Given the description of an element on the screen output the (x, y) to click on. 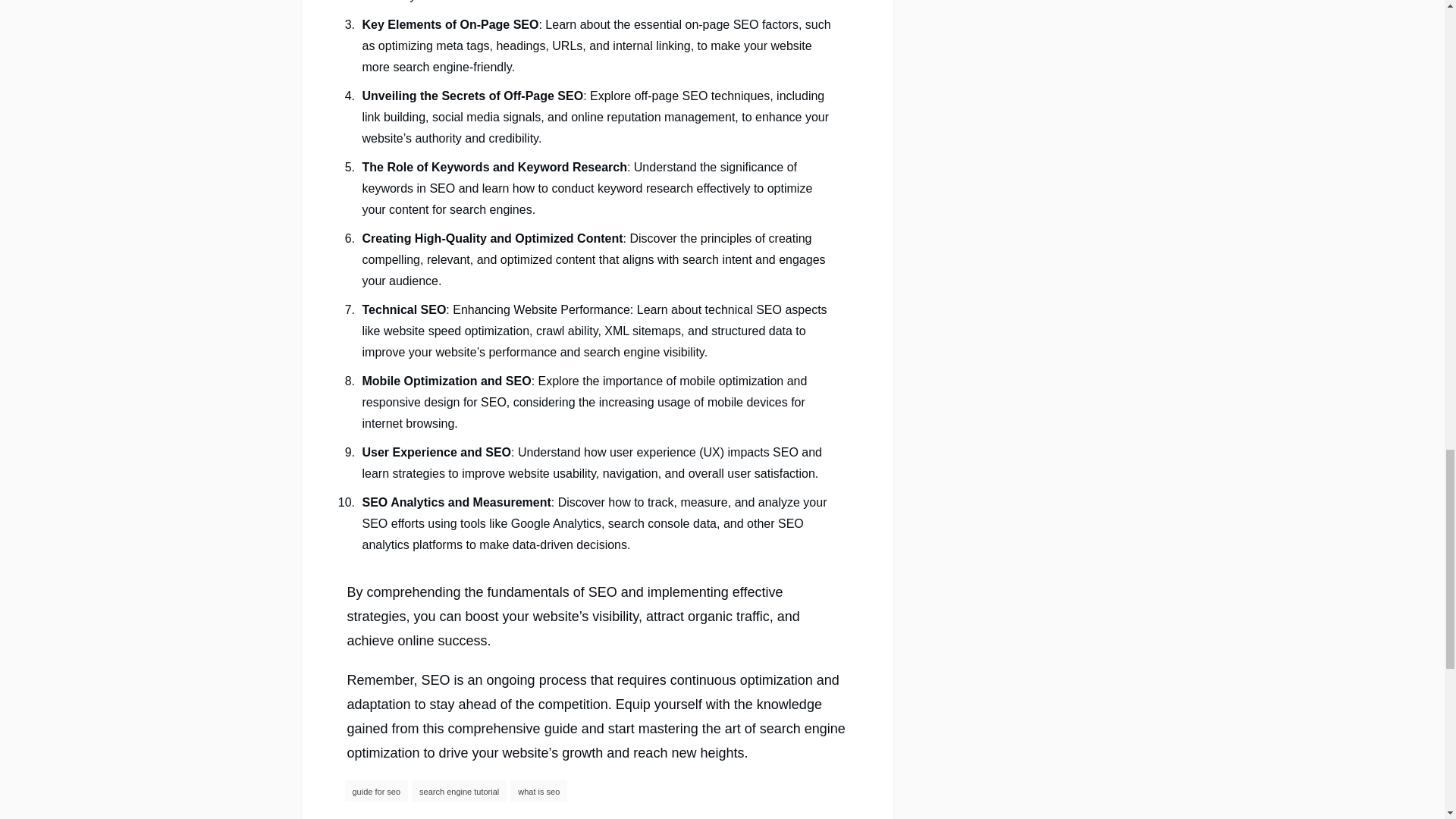
what is seo (539, 790)
guide for seo (375, 790)
search engine tutorial (459, 790)
